Given the description of an element on the screen output the (x, y) to click on. 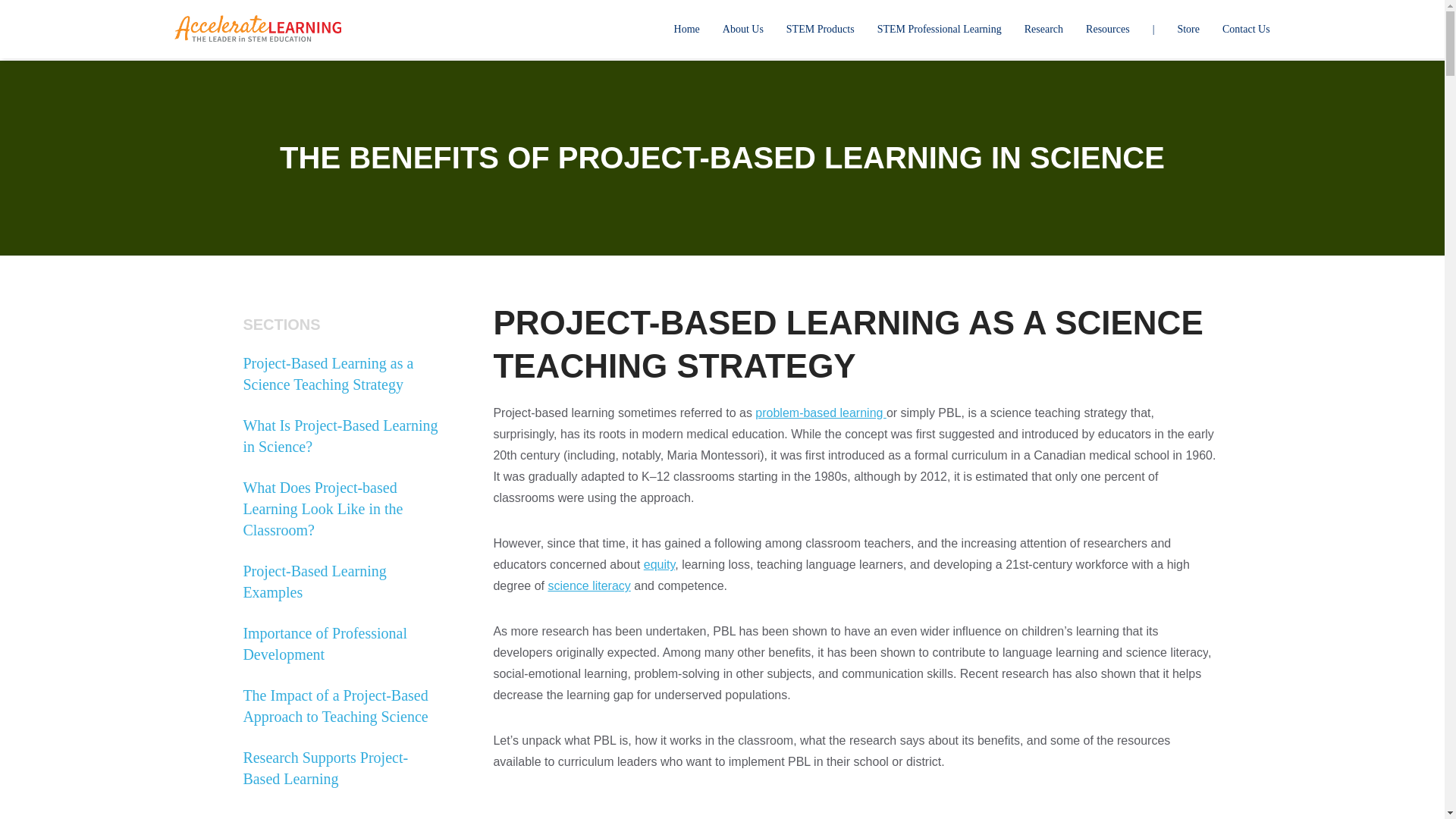
Project-Based Learning as a Science Teaching Strategy (341, 373)
STEM Professional Learning (939, 29)
STEM Products (820, 29)
What Does Project-based Learning Look Like in the Classroom? (341, 508)
What Is Project-Based Learning in Science? (341, 435)
